Given the description of an element on the screen output the (x, y) to click on. 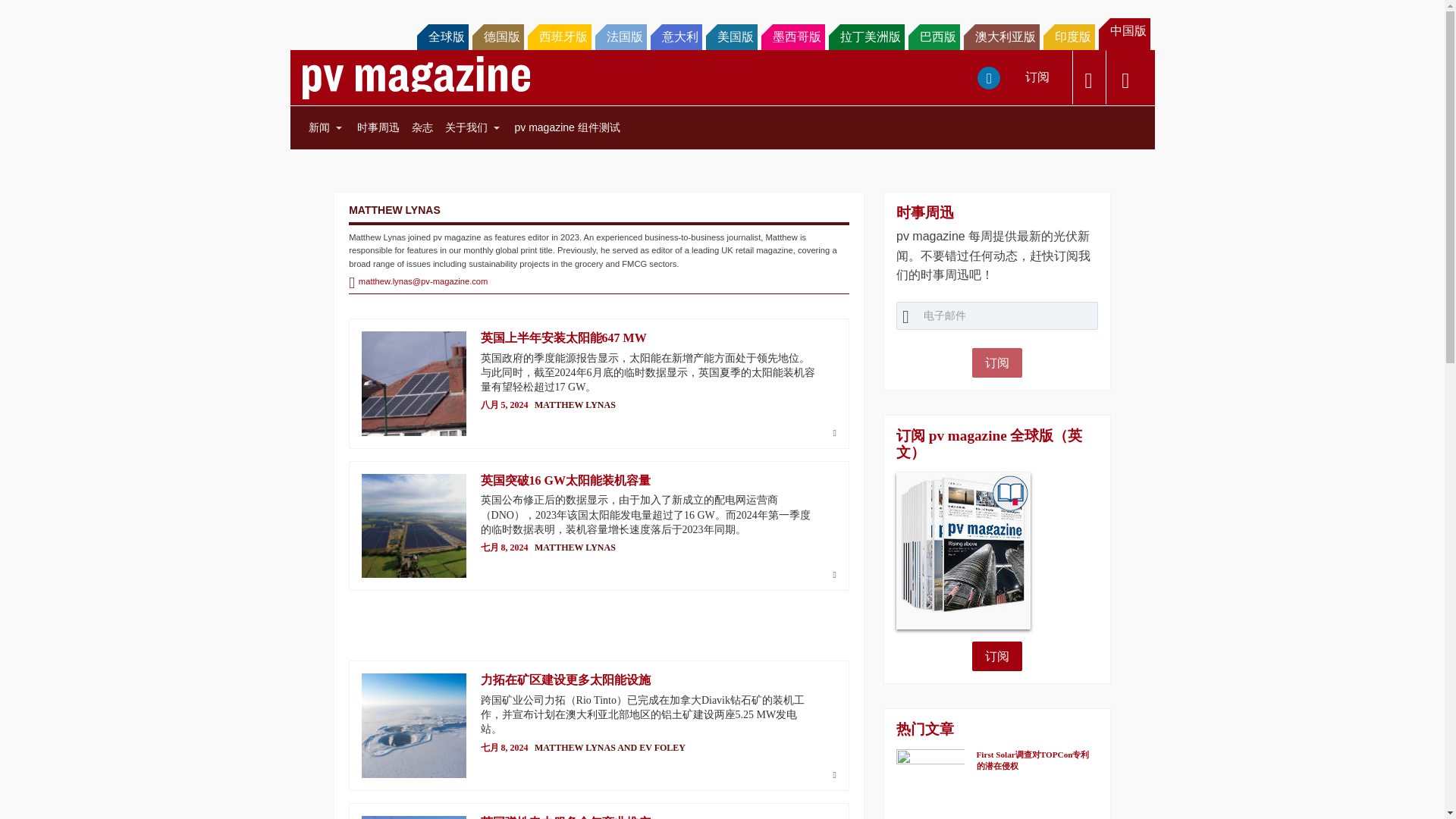
Posts by Matthew Lynas (574, 747)
Posts by Matthew Lynas (574, 404)
Posts by Matthew Lynas (574, 547)
Posts by Ev Foley (662, 747)
